Given the description of an element on the screen output the (x, y) to click on. 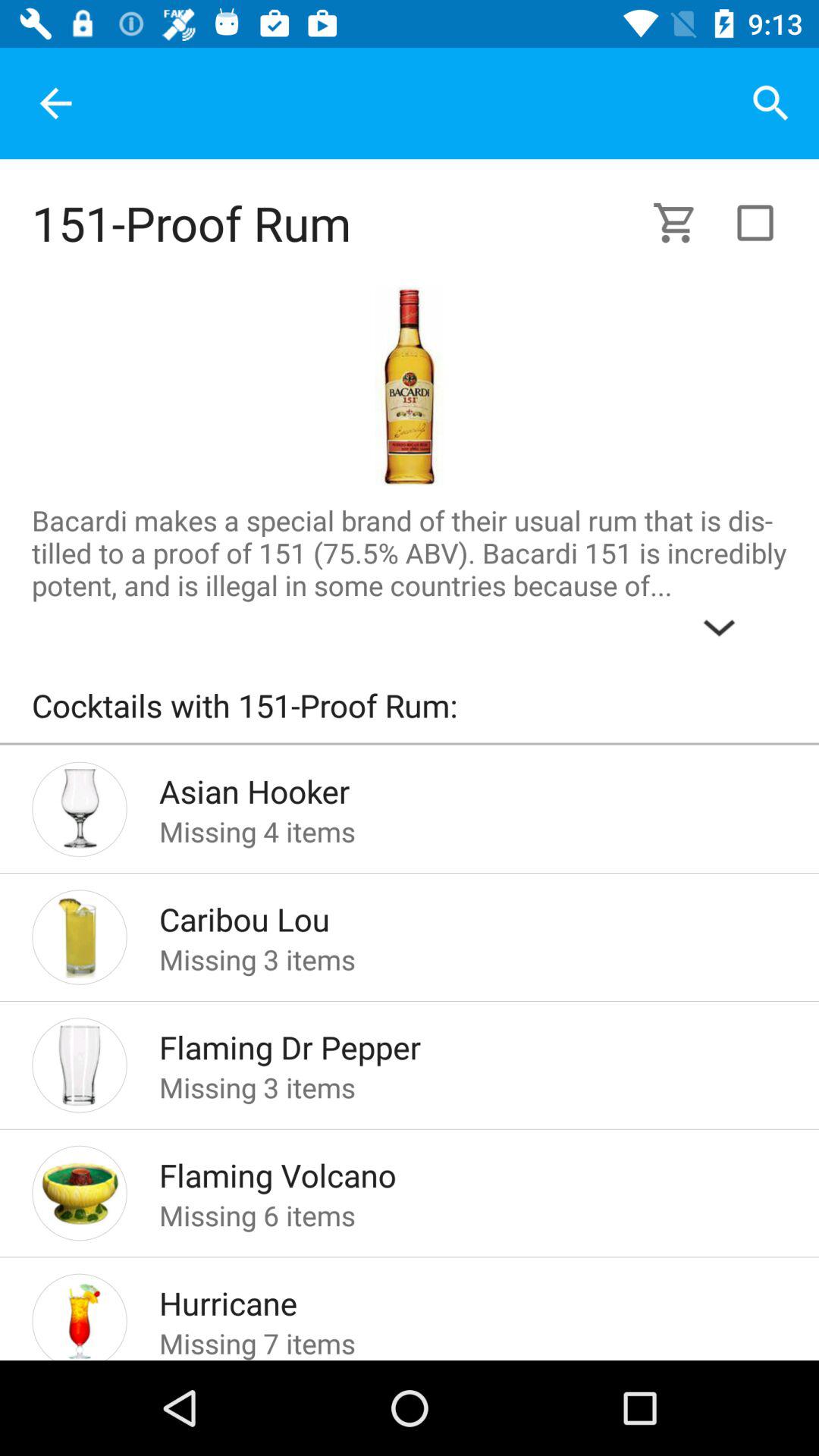
scroll to the cocktails with 151 (409, 712)
